Given the description of an element on the screen output the (x, y) to click on. 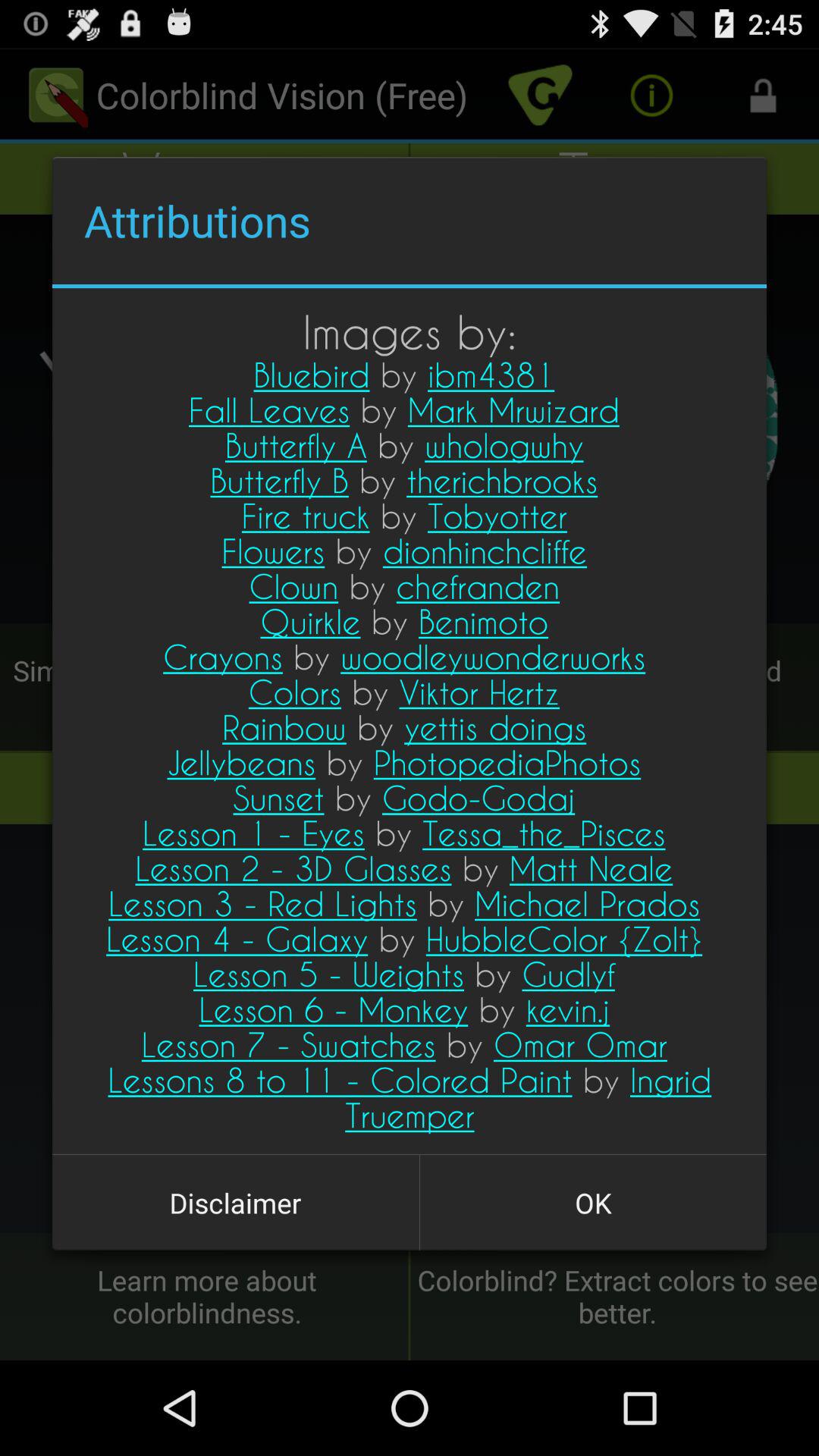
turn off the disclaimer button (235, 1202)
